Given the description of an element on the screen output the (x, y) to click on. 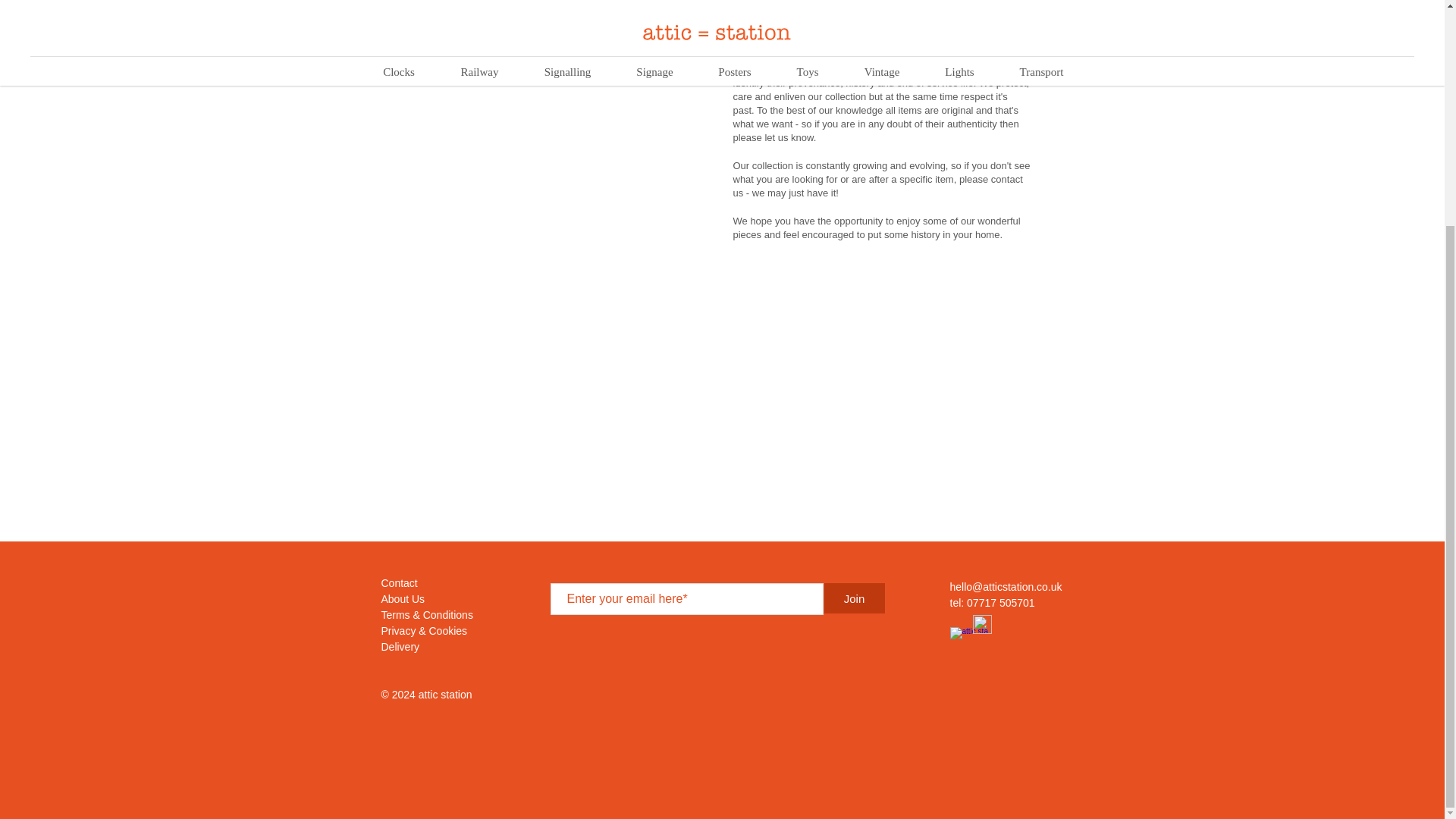
Delivery (399, 646)
Join (853, 598)
Contact (398, 582)
About Us (402, 598)
07717 505701 (1000, 603)
